Given the description of an element on the screen output the (x, y) to click on. 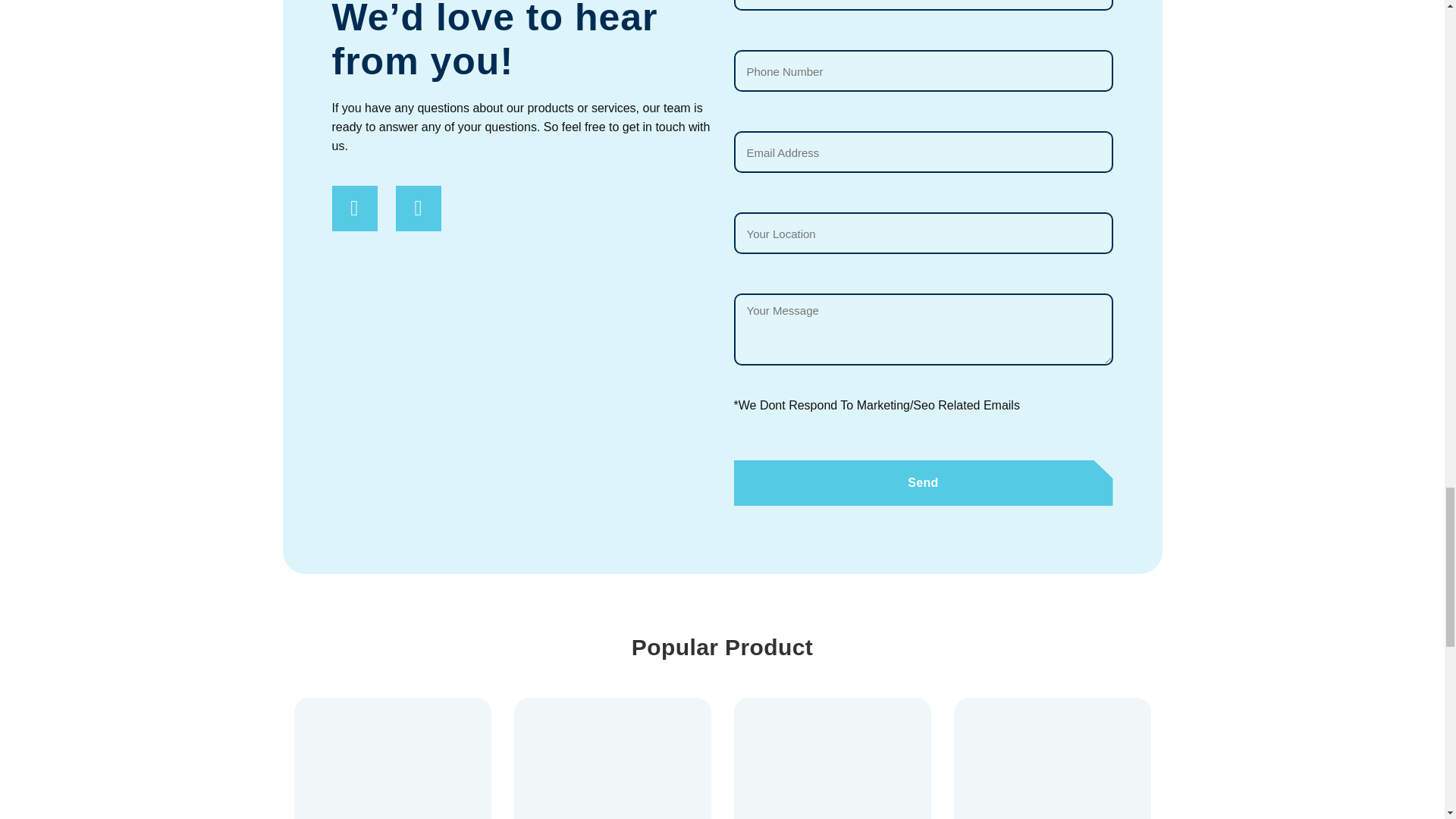
Send (923, 483)
Send (923, 483)
